Given the description of an element on the screen output the (x, y) to click on. 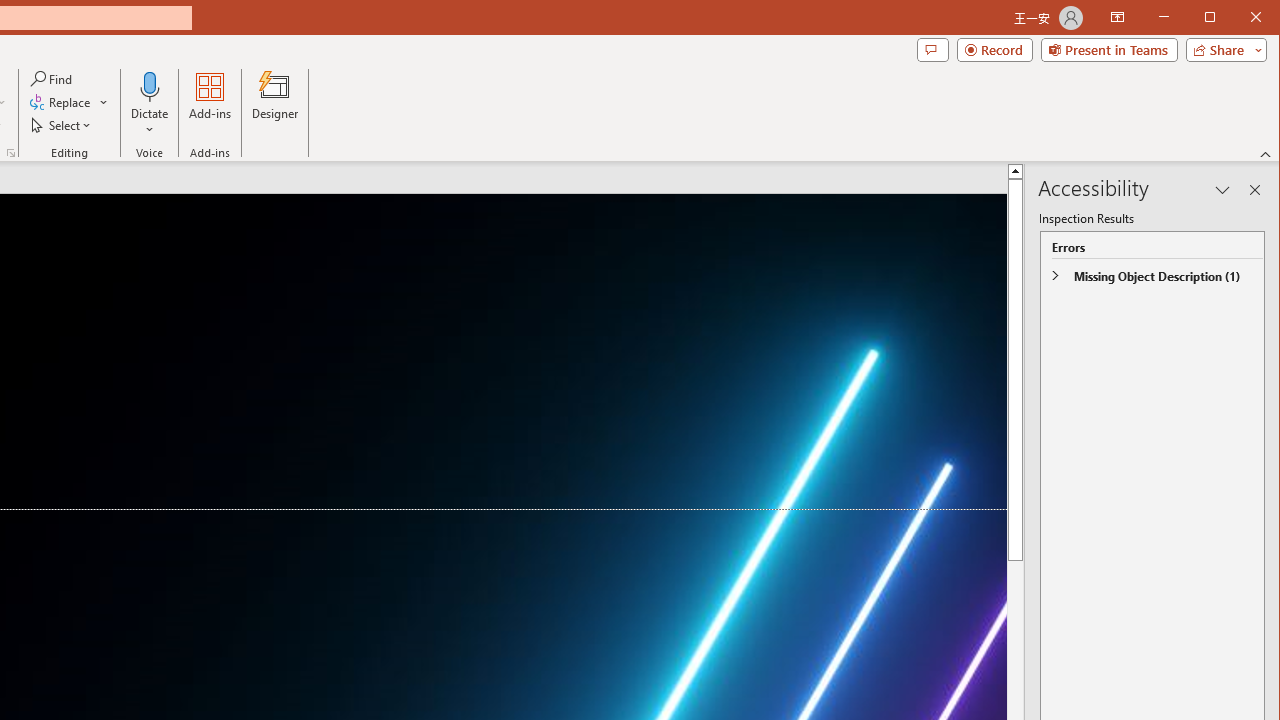
Select (62, 124)
Maximize (1238, 18)
Find... (52, 78)
